Given the description of an element on the screen output the (x, y) to click on. 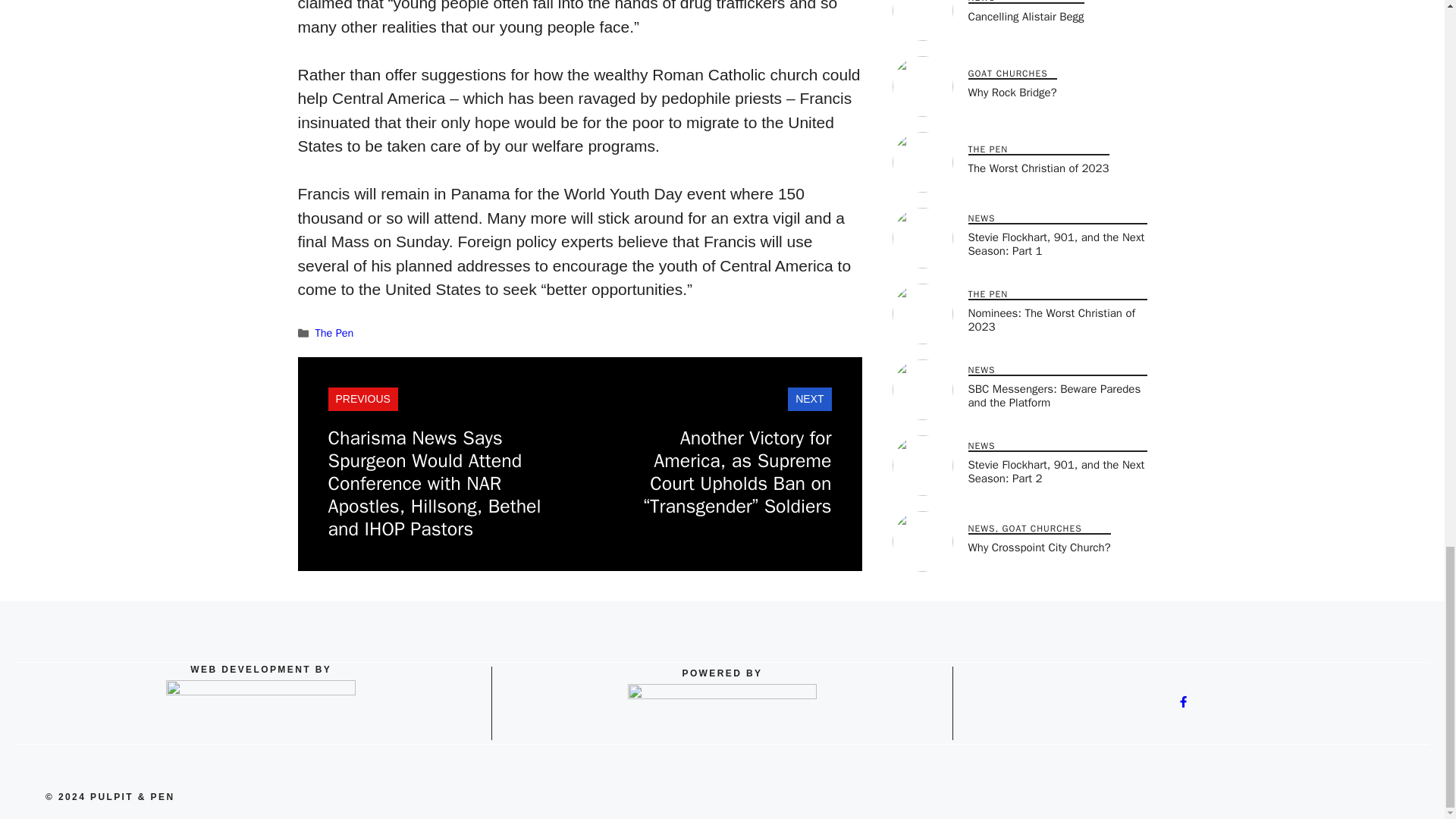
Website-Psychiatrist-Logo-300x108-1 (260, 711)
Reformed-Hosting-Logo-250x49-1 (721, 711)
The Pen (334, 332)
